Given the description of an element on the screen output the (x, y) to click on. 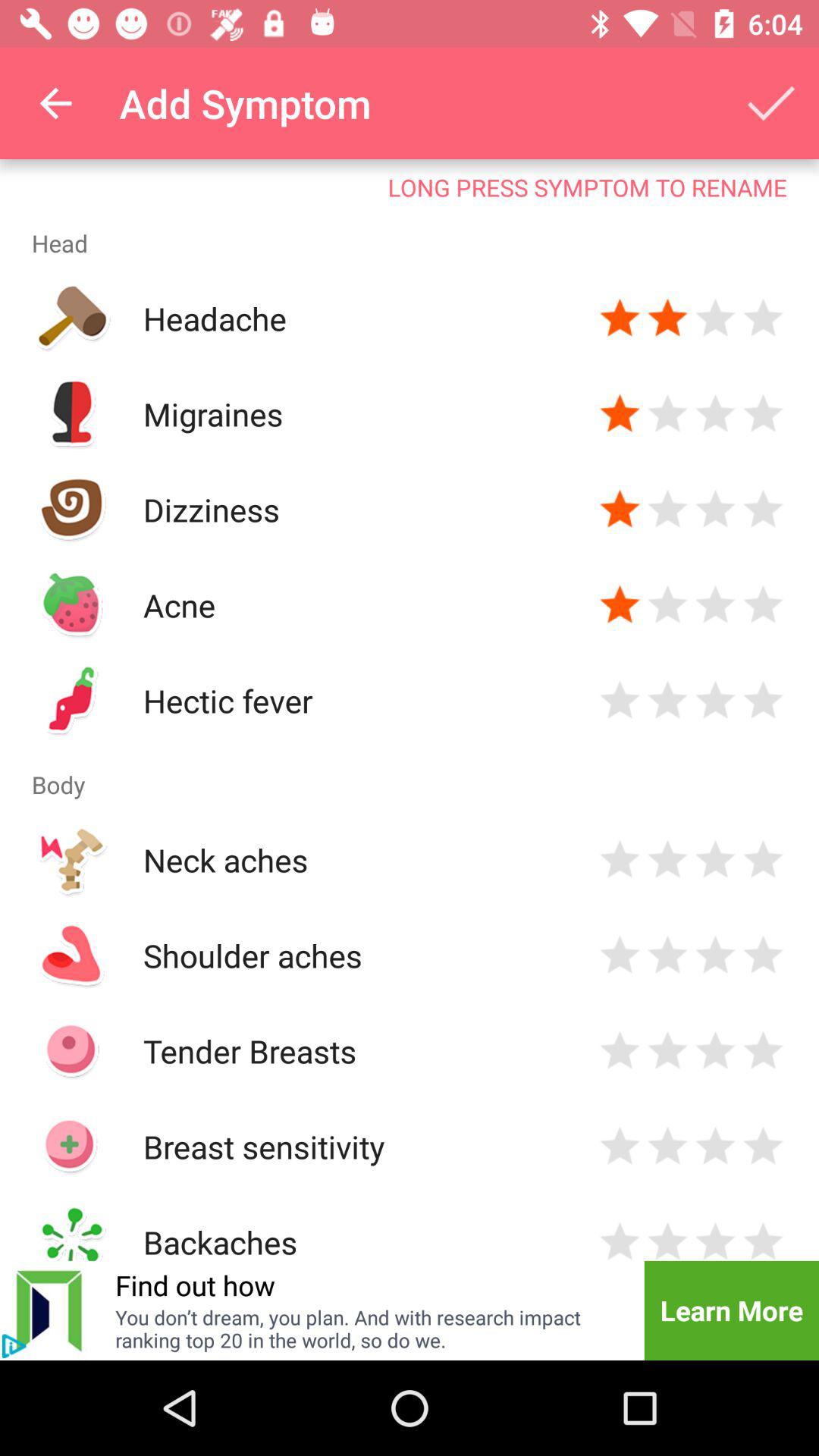
give a star rating (667, 859)
